Given the description of an element on the screen output the (x, y) to click on. 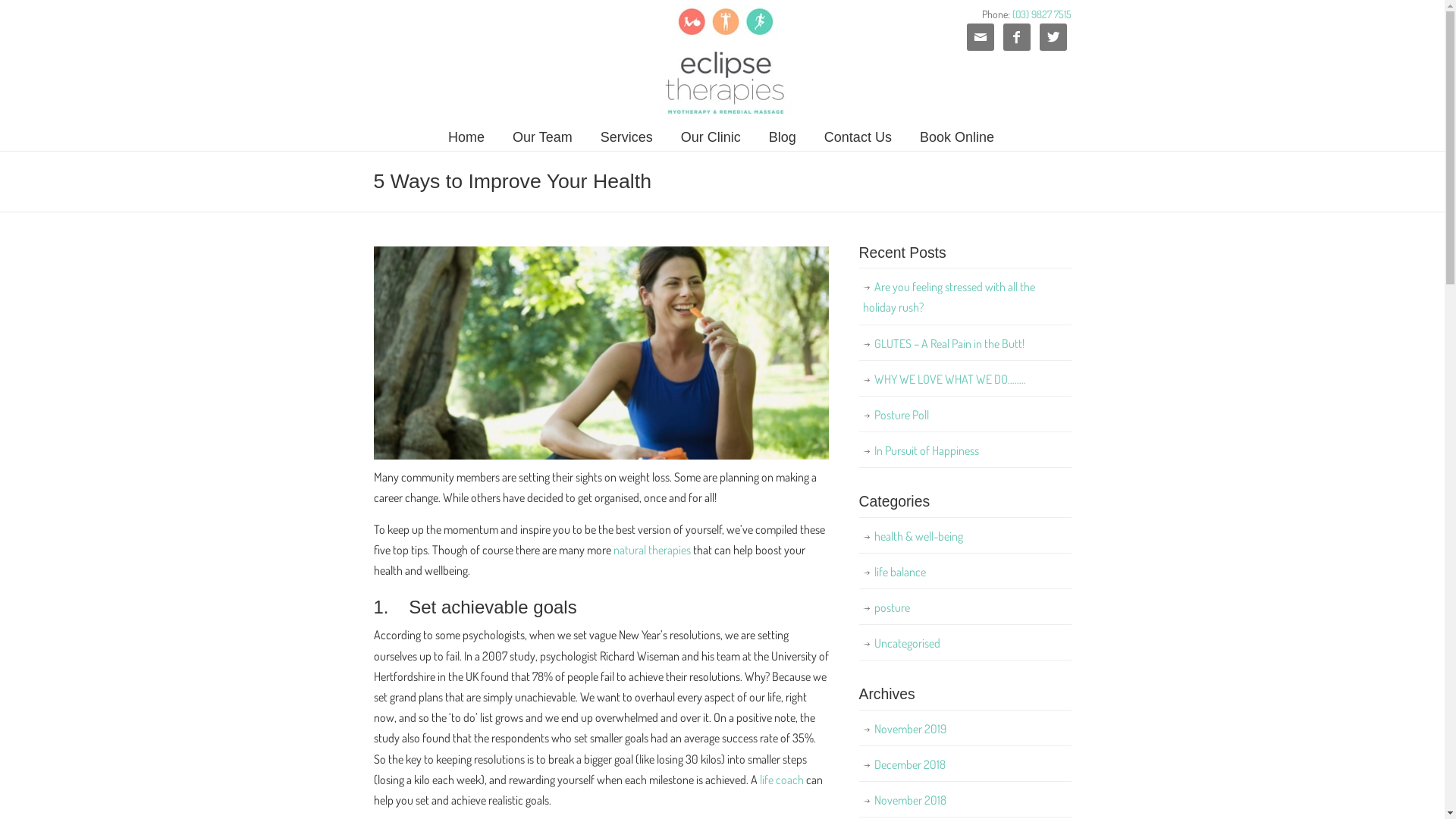
November 2018 Element type: text (964, 800)
Services Element type: text (626, 137)
In Pursuit of Happiness Element type: text (964, 450)
life coach Element type: text (781, 779)
Posture Poll Element type: text (964, 415)
November 2019 Element type: text (964, 728)
Eclipse Therapies Element type: text (722, 61)
(03) 9827 7515 Element type: text (1040, 13)
Are you feeling stressed with all the holiday rush? Element type: text (964, 297)
Contact Us Element type: text (857, 137)
life balance Element type: text (964, 571)
Book Online Element type: text (956, 137)
Our Team Element type: text (542, 137)
health & well-being Element type: text (964, 536)
Home Element type: text (466, 137)
natural therapies Element type: text (651, 549)
Our Clinic Element type: text (710, 137)
Blog Element type: text (782, 137)
December 2018 Element type: text (964, 764)
posture Element type: text (964, 607)
Uncategorised Element type: text (964, 643)
